Given the description of an element on the screen output the (x, y) to click on. 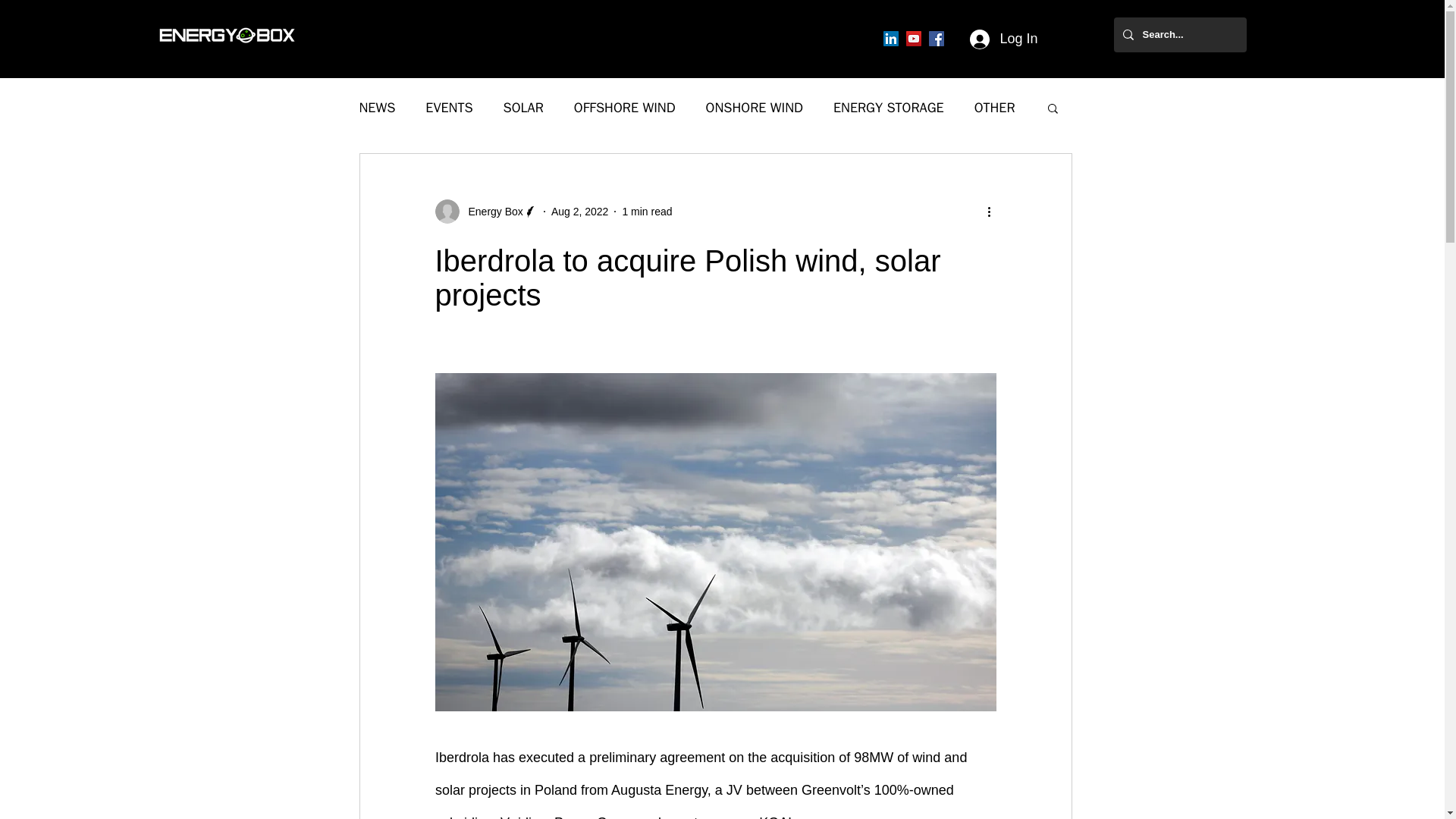
SOLAR (523, 107)
NEWS (377, 107)
EVENTS (448, 107)
ONSHORE WIND (754, 107)
OTHER (994, 107)
OFFSHORE WIND (624, 107)
ENERGY STORAGE (887, 107)
1 min read (646, 210)
Energy Box (491, 211)
Aug 2, 2022 (579, 210)
